Given the description of an element on the screen output the (x, y) to click on. 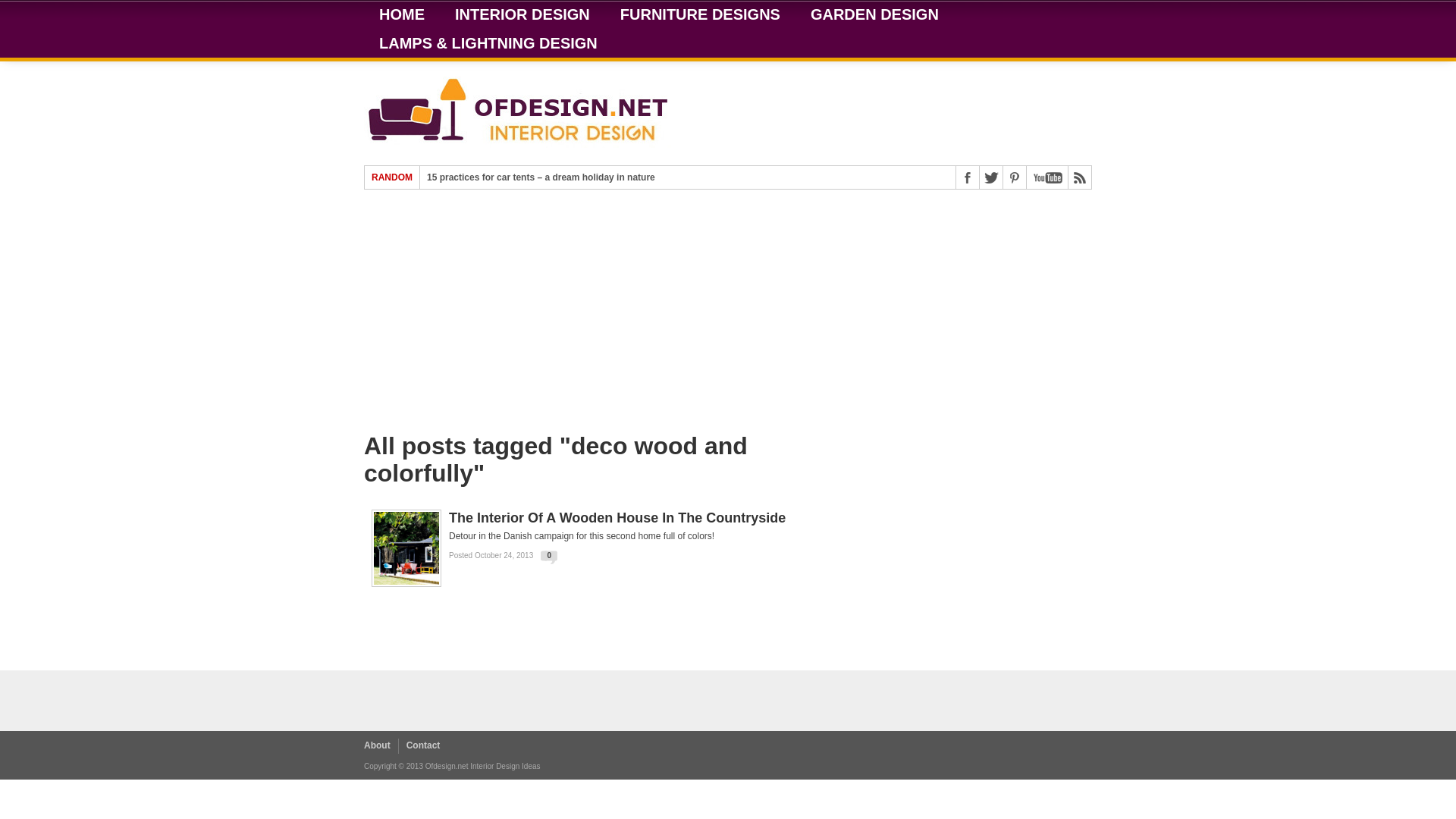
GARDEN DESIGN (873, 14)
FURNITURE DESIGNS (699, 14)
INTERIOR DESIGN (522, 14)
HOME (401, 14)
The Interior Of A Wooden House In The Countryside (637, 517)
Advertisement (599, 318)
